Given the description of an element on the screen output the (x, y) to click on. 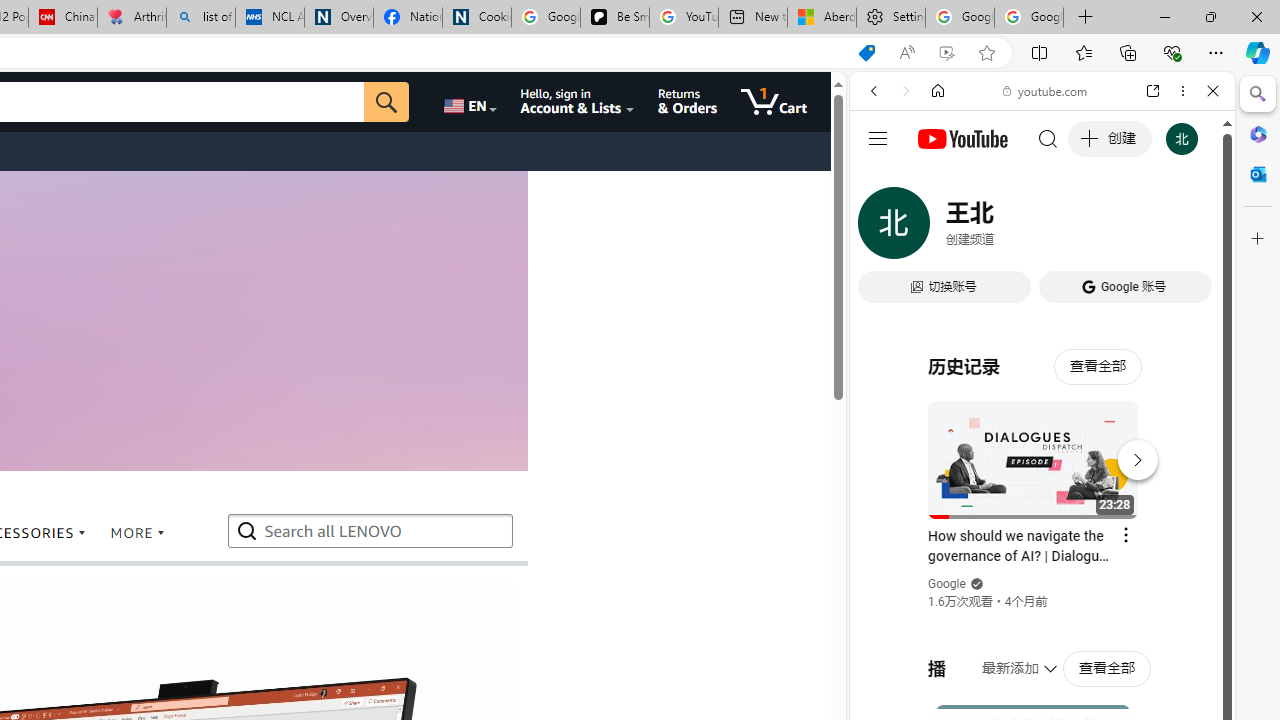
MORE (138, 534)
MORE (136, 533)
